Given the description of an element on the screen output the (x, y) to click on. 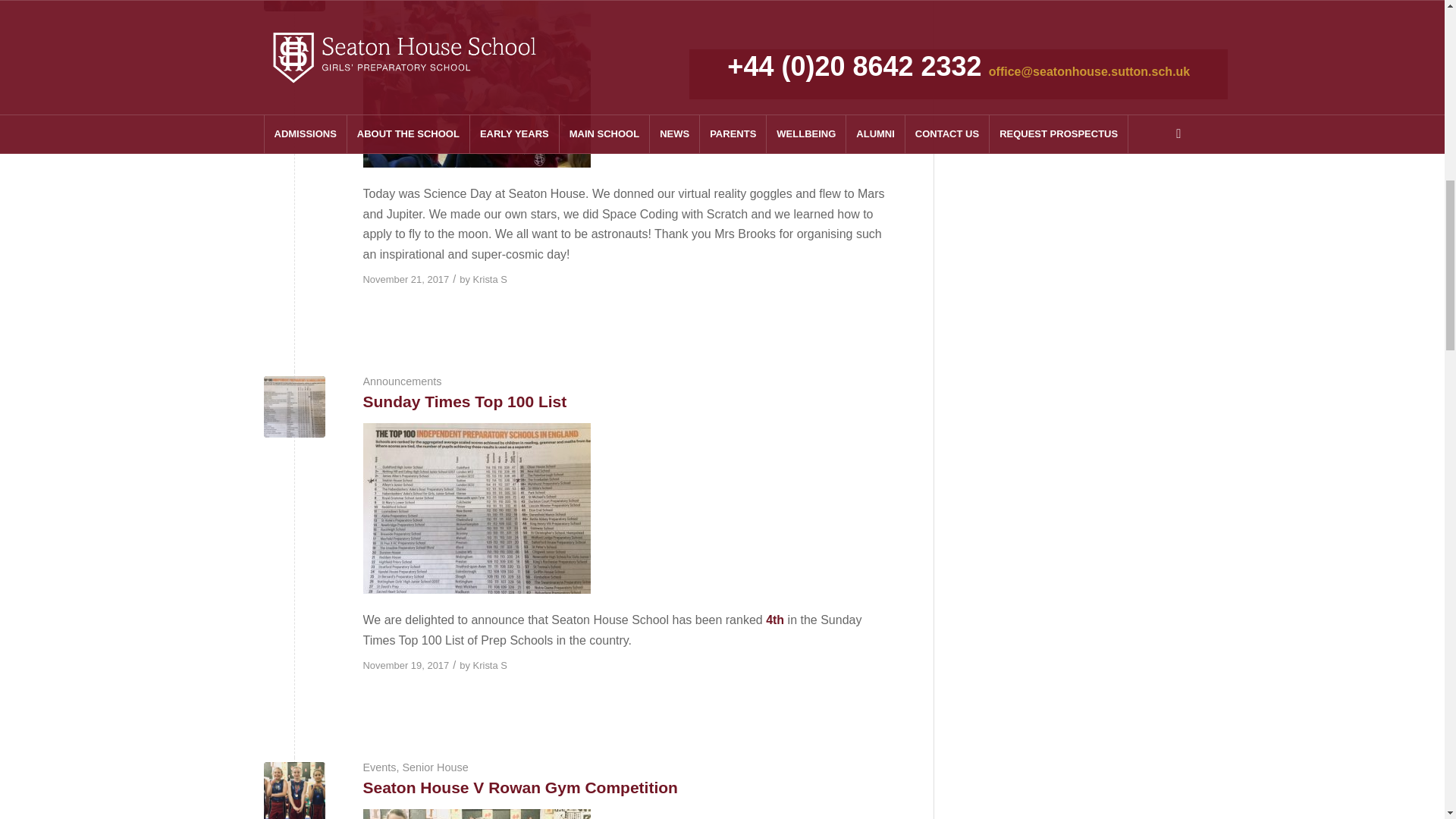
Medals pic (293, 790)
P1240228 (293, 5)
Posts by Krista S (489, 665)
Posts by Krista S (489, 279)
Times List (293, 406)
Permanent Link: Seaton House V Rowan Gym Competition (519, 787)
Permanent Link: Sunday Times Top 100 List (464, 401)
